Given the description of an element on the screen output the (x, y) to click on. 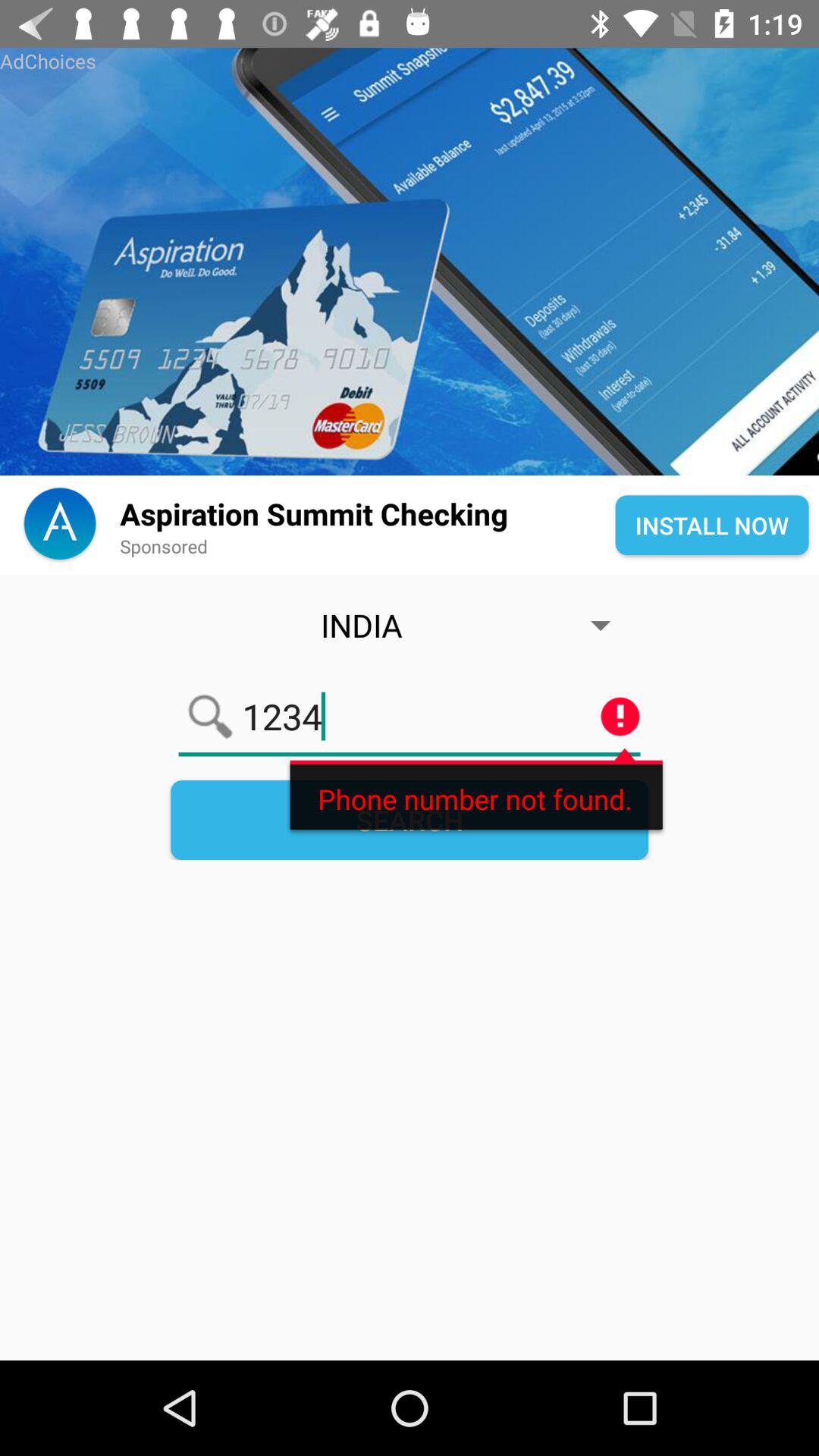
mastercard screen (409, 261)
